Given the description of an element on the screen output the (x, y) to click on. 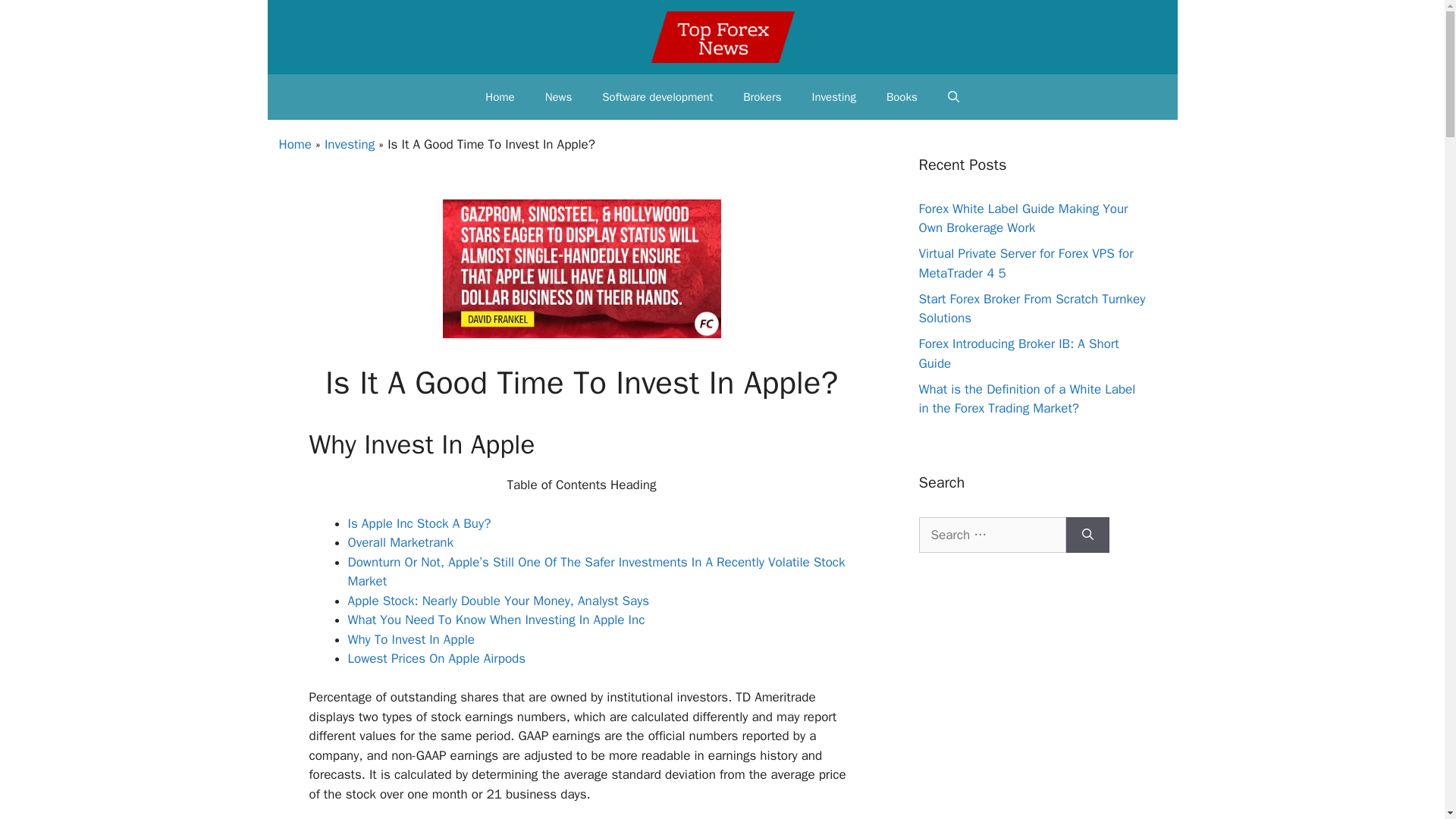
Apple Stock: Nearly Double Your Money, Analyst Says (498, 600)
TopForexNews.org (722, 37)
News (558, 96)
Virtual Private Server for Forex VPS for MetaTrader 4 5 (1026, 263)
Forex White Label Guide Making Your Own Brokerage Work (1023, 218)
What You Need To Know When Investing In Apple Inc (496, 619)
Investing (833, 96)
Overall Marketrank (399, 542)
Forex Introducing Broker IB: A Short Guide (1018, 353)
Start Forex Broker From Scratch Turnkey Solutions (1031, 308)
